Given the description of an element on the screen output the (x, y) to click on. 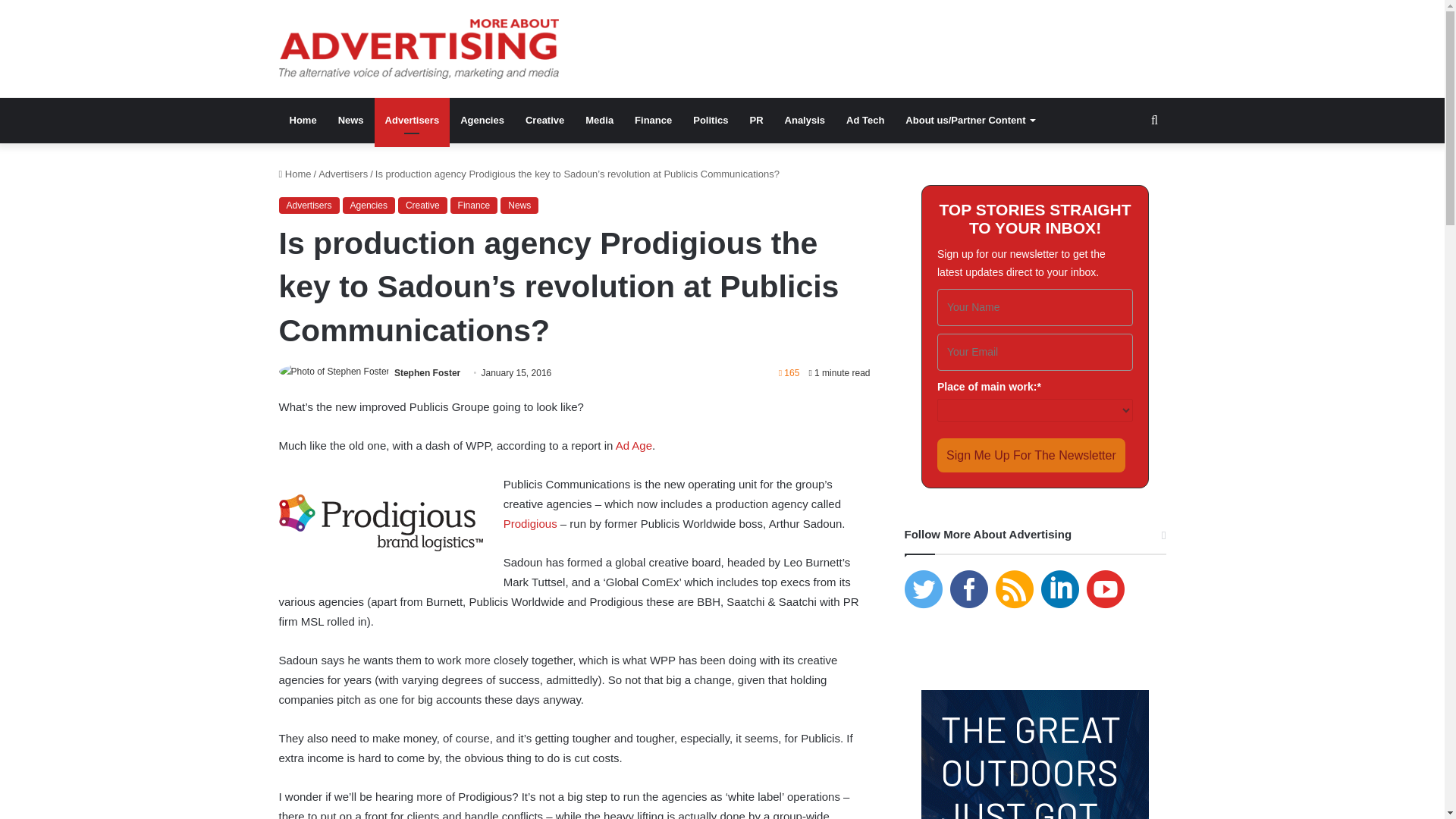
Agencies (482, 120)
Stephen Foster (427, 372)
Prodigious (531, 522)
Stephen Foster (427, 372)
Home (295, 173)
News (350, 120)
Finance (473, 205)
Home (303, 120)
Politics (710, 120)
Creative (421, 205)
Agencies (368, 205)
More About Advertising (419, 48)
Advertisers (309, 205)
Ad Age (633, 445)
Analysis (804, 120)
